Given the description of an element on the screen output the (x, y) to click on. 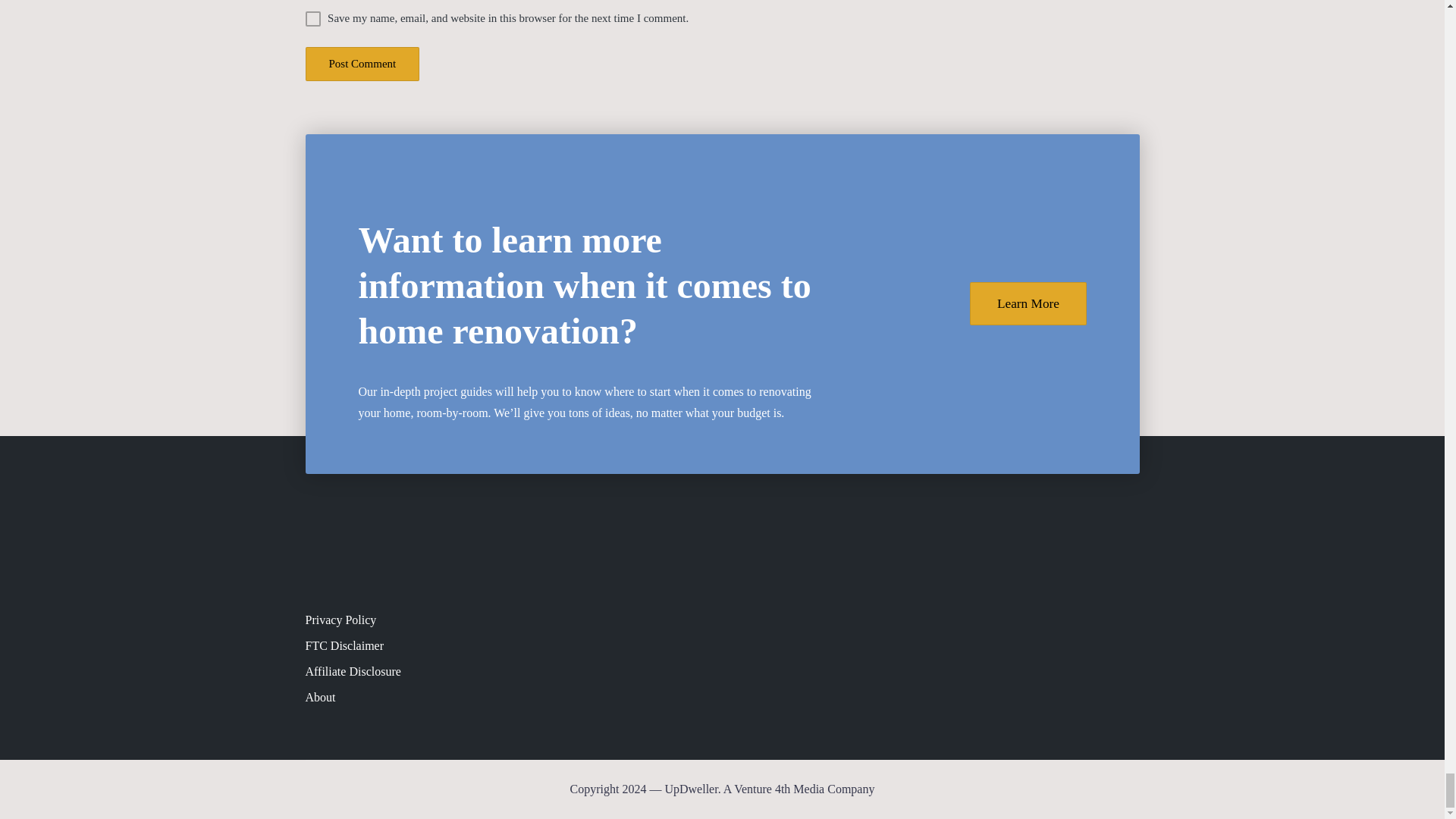
Post Comment (361, 63)
yes (312, 18)
